Given the description of an element on the screen output the (x, y) to click on. 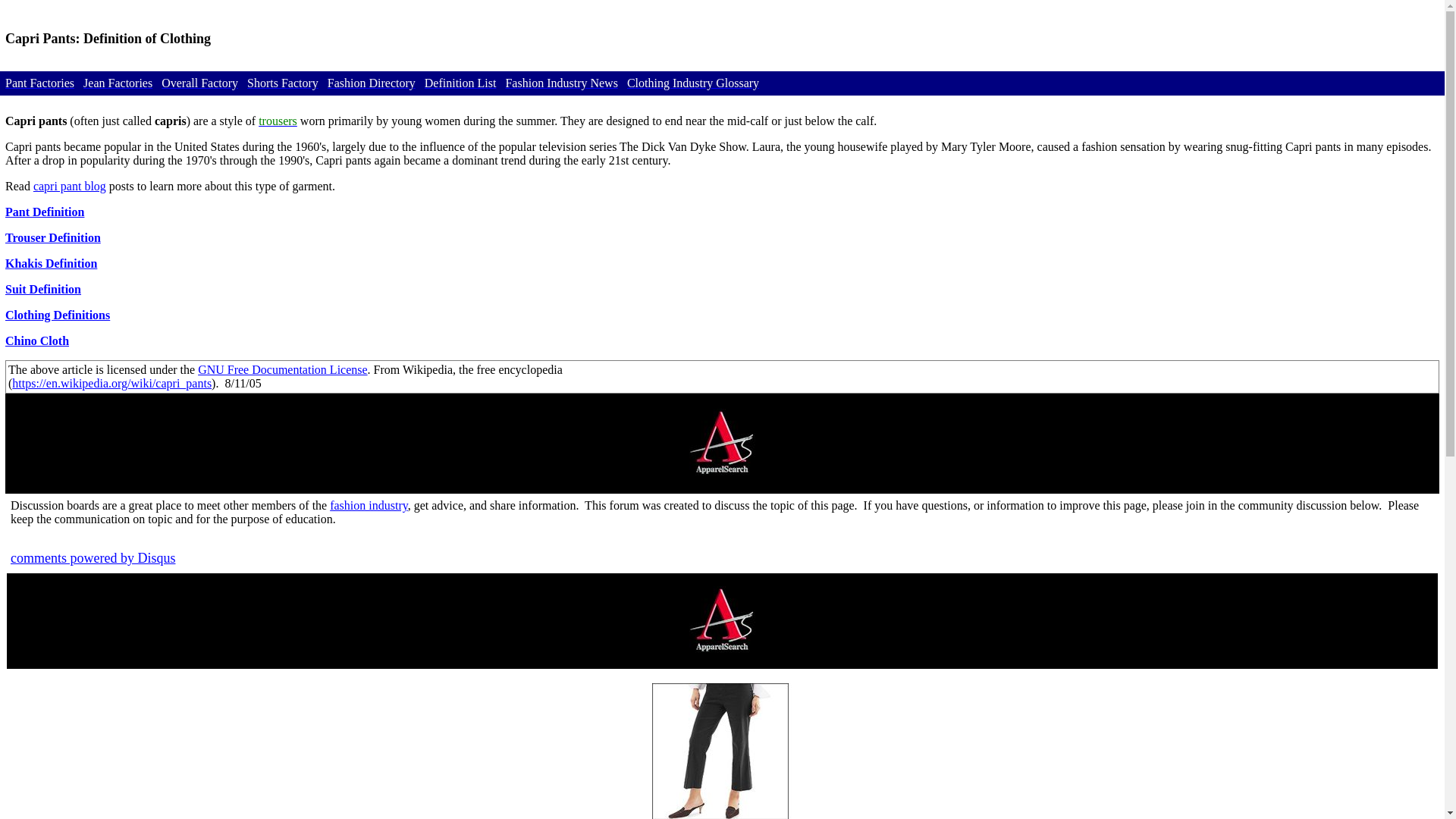
fashion industry (368, 504)
Khakis Definition (51, 263)
Pant Definition (44, 211)
trousers (278, 120)
Trousers (278, 120)
Clothing Definitions (57, 314)
capri pant blog (69, 185)
Shorts Factory (282, 82)
Overall Factory (199, 82)
Pant Factories (39, 82)
